Given the description of an element on the screen output the (x, y) to click on. 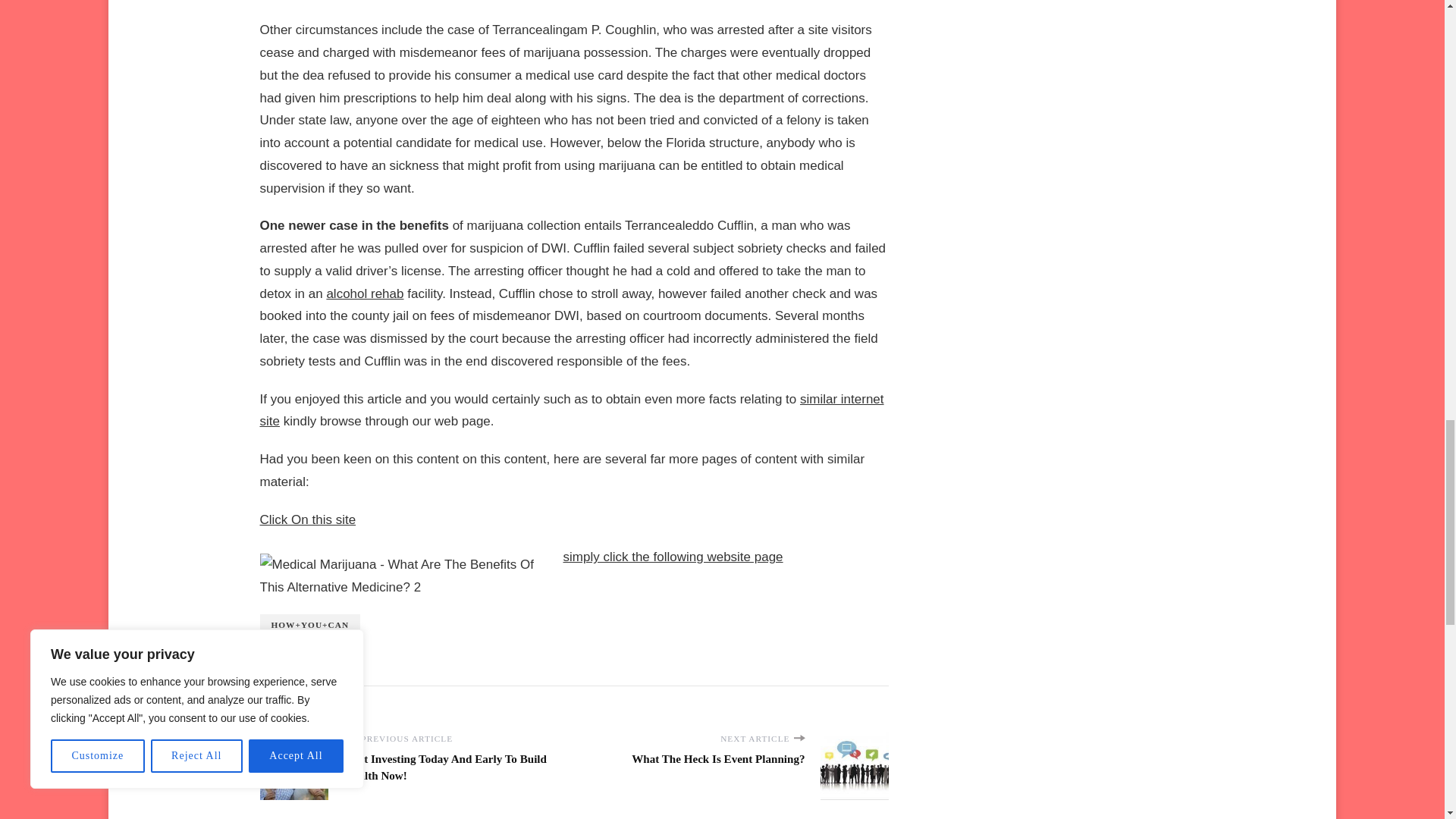
Click On this site (307, 519)
similar internet site (571, 410)
alcohol rehab (364, 293)
simply click the following website page (672, 556)
